Given the description of an element on the screen output the (x, y) to click on. 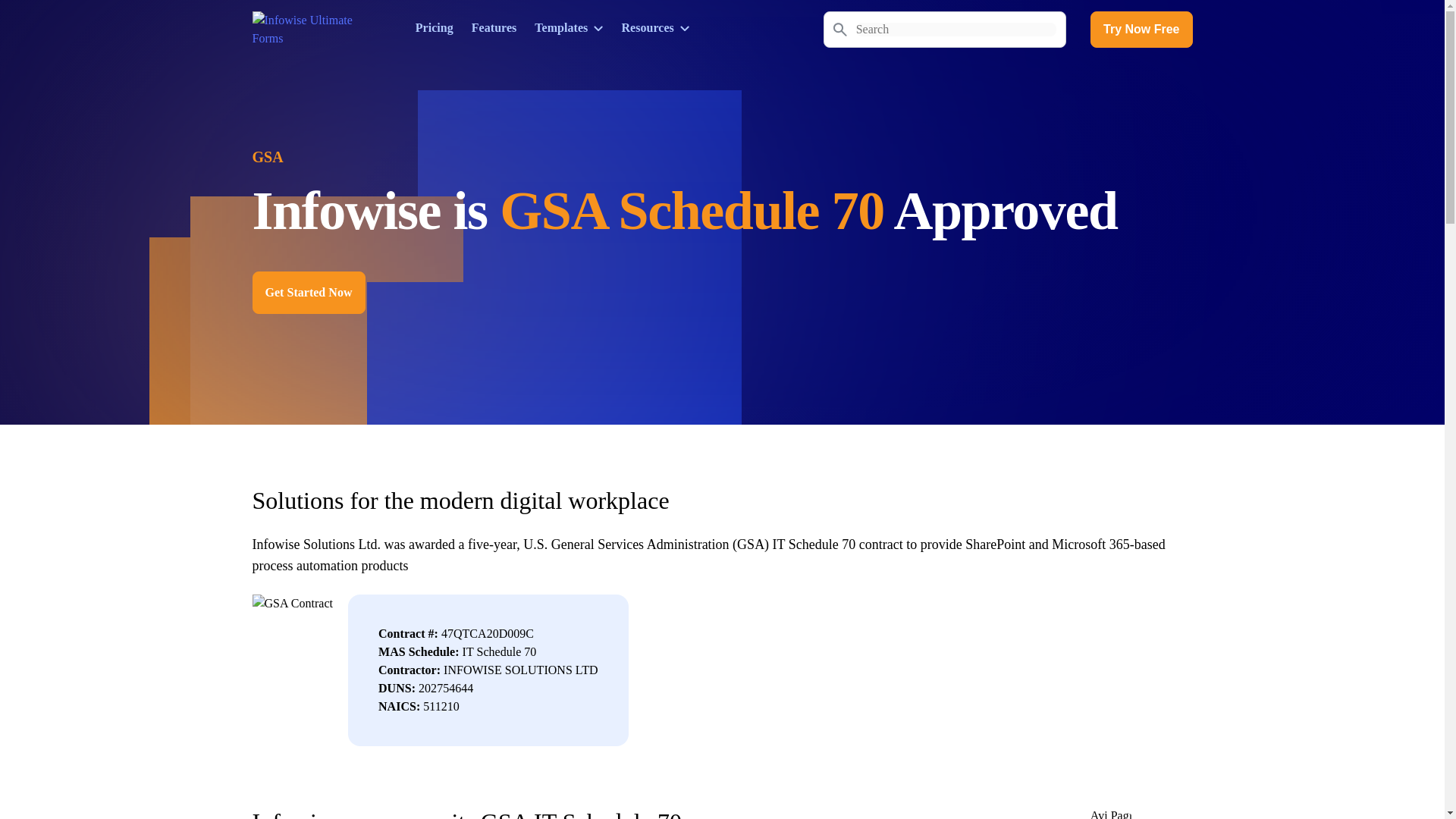
Search field (956, 29)
Pricing (433, 27)
Get Started Now (308, 292)
Resources   (654, 27)
Features (493, 27)
Templates   (568, 27)
Try Now Free (1141, 29)
